Given the description of an element on the screen output the (x, y) to click on. 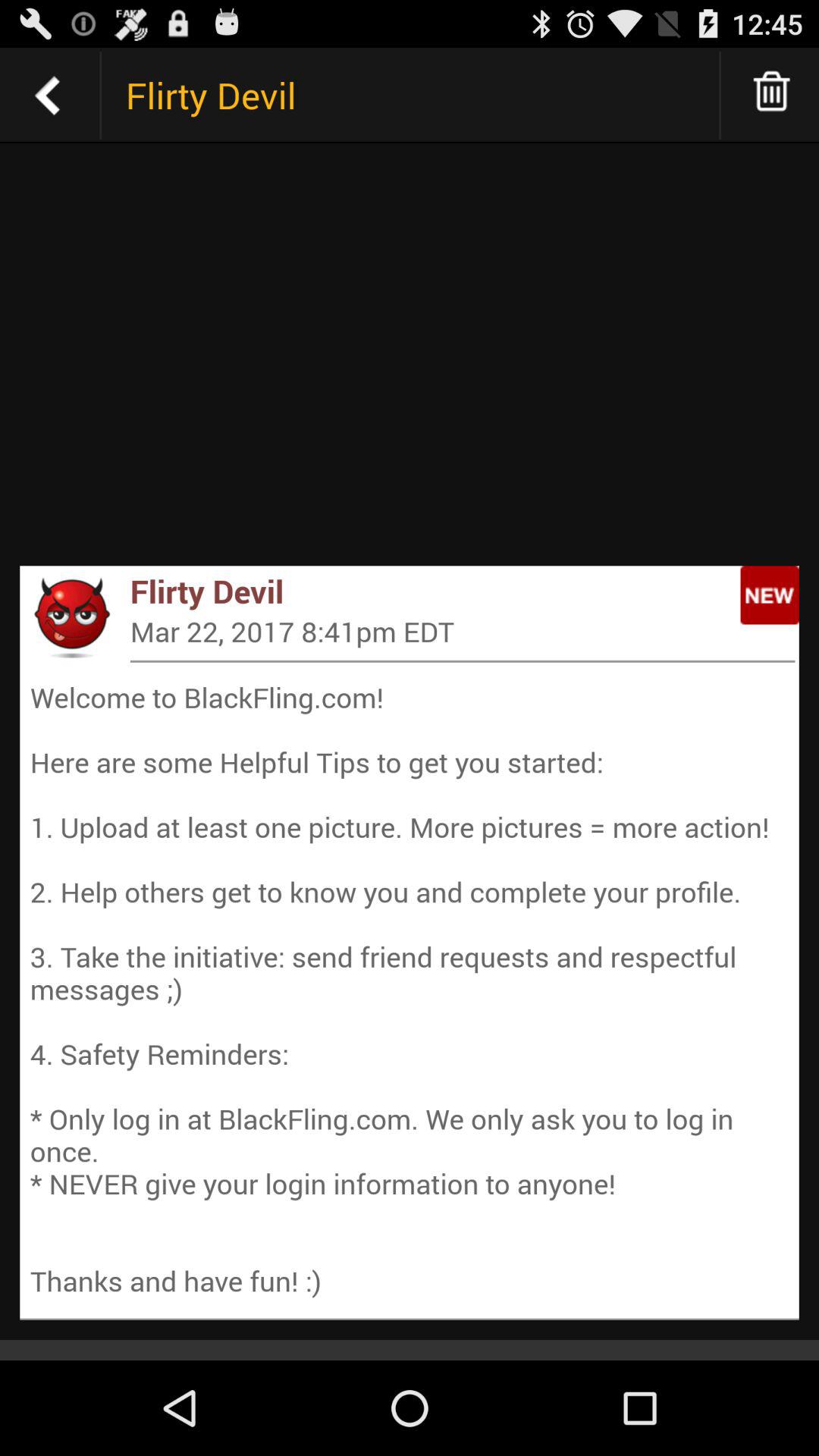
flip to the welcome to blackfling app (409, 988)
